Given the description of an element on the screen output the (x, y) to click on. 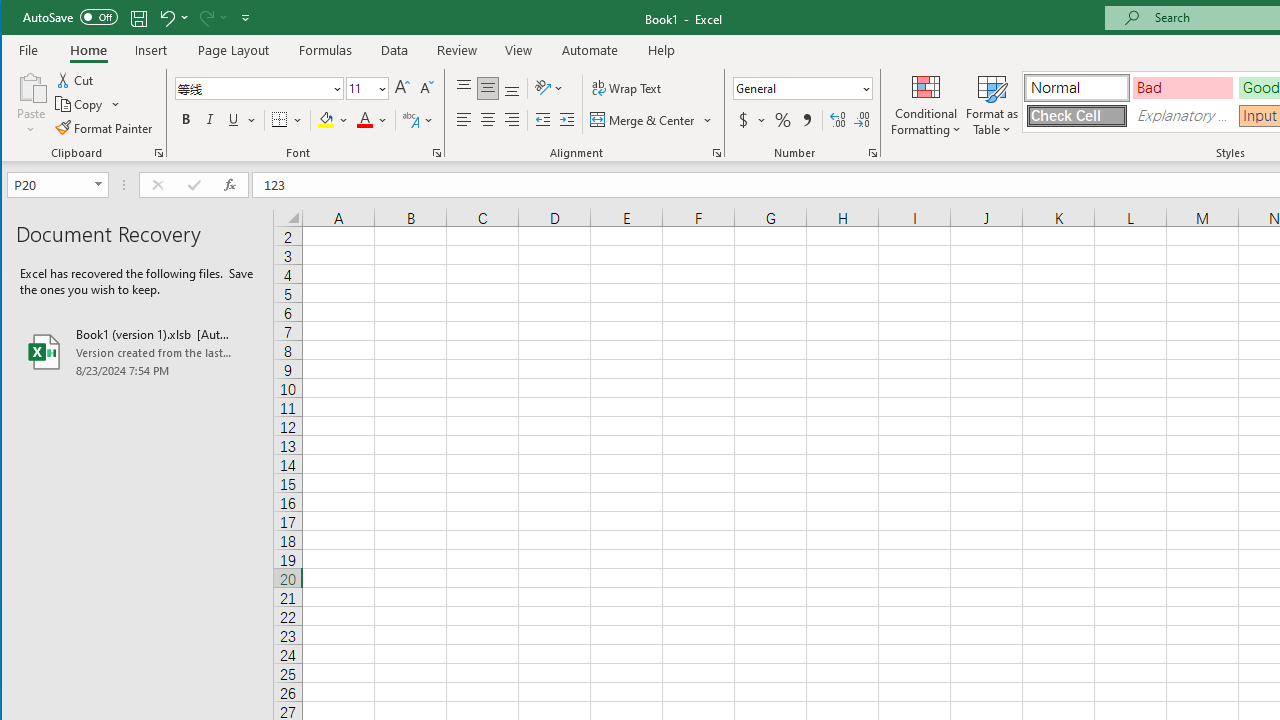
Wrap Text (627, 88)
Font Color (372, 119)
Increase Indent (566, 119)
Font Size (367, 88)
Number Format (802, 88)
Italic (209, 119)
Orientation (550, 88)
Align Right (511, 119)
Paste (31, 86)
Percent Style (782, 119)
Number Format (795, 88)
Font (259, 88)
